Given the description of an element on the screen output the (x, y) to click on. 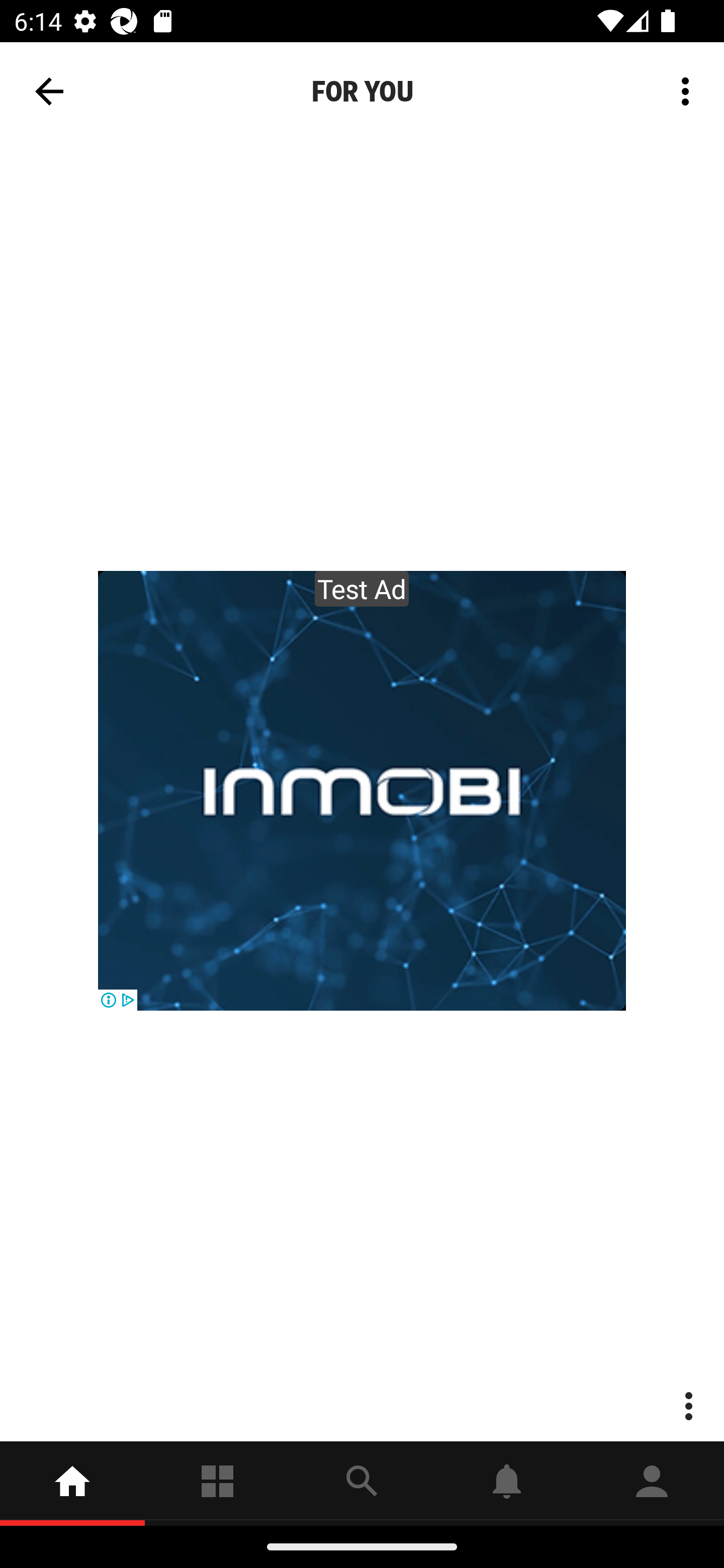
Back (49, 91)
FOR YOU (361, 91)
Edit Home (679, 81)
inmobi-creative (361, 790)
home (72, 1482)
Following (216, 1482)
explore (361, 1482)
Notifications (506, 1482)
Profile (651, 1482)
